Given the description of an element on the screen output the (x, y) to click on. 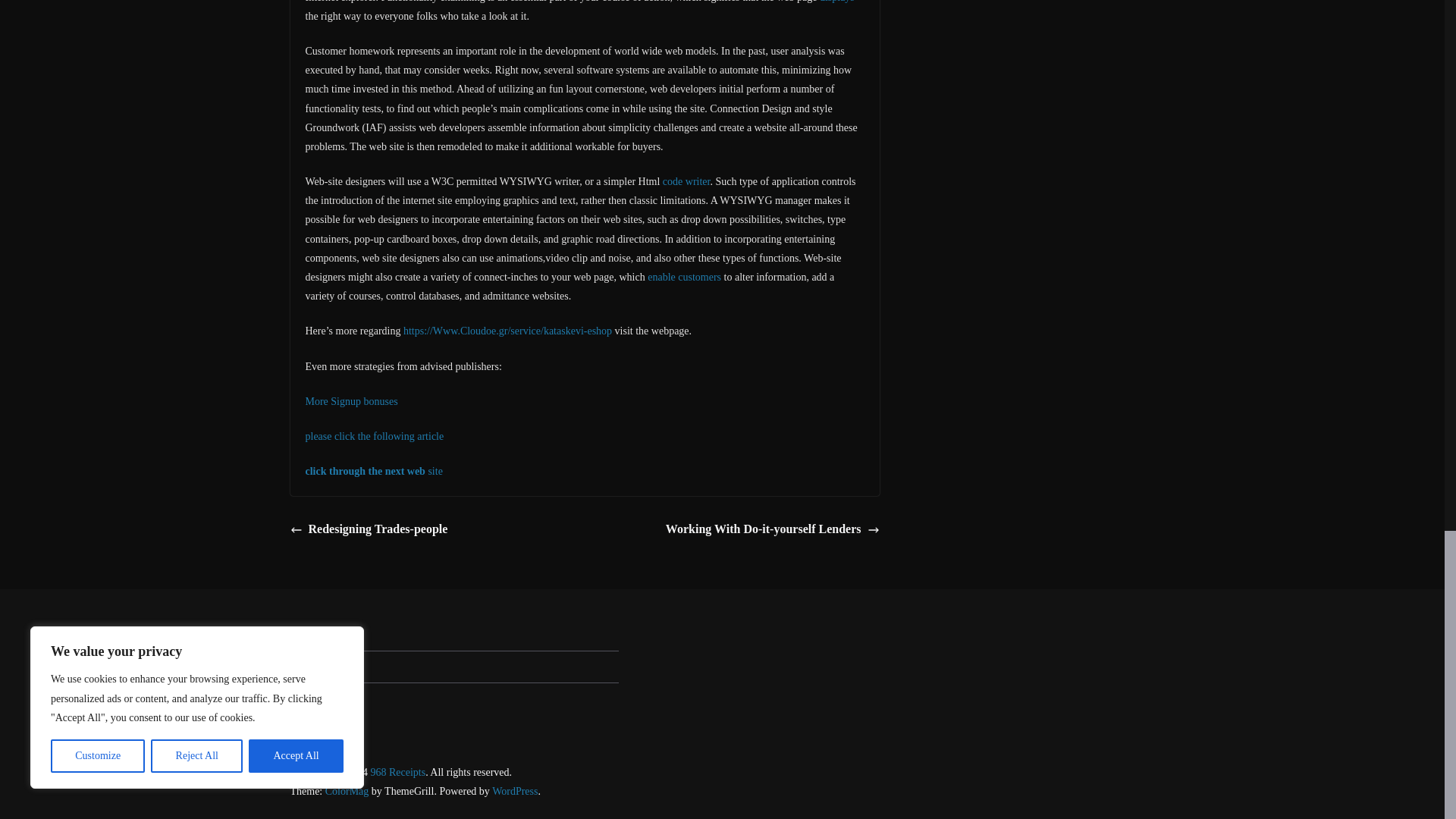
click through the next web site (373, 471)
Redesigning Trades-people (367, 529)
please click the following article (374, 436)
Working With Do-it-yourself Lenders (772, 529)
enable customers (683, 276)
ColorMag (346, 790)
More Signup bonuses (350, 401)
WordPress (514, 790)
968 Receipts (397, 772)
code writer (686, 181)
displays (836, 1)
